Given the description of an element on the screen output the (x, y) to click on. 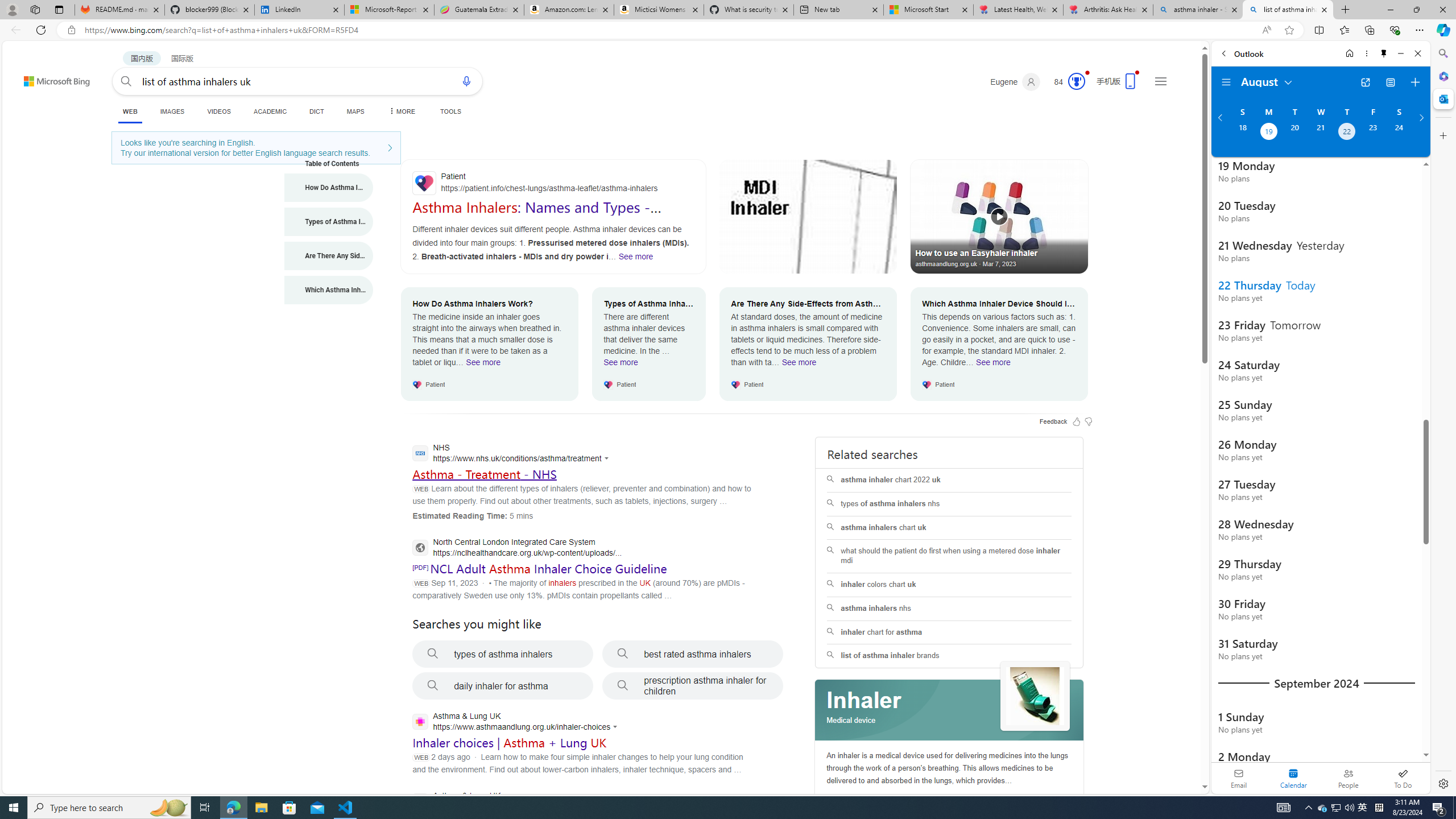
Skip to content (35, 76)
